Given the description of an element on the screen output the (x, y) to click on. 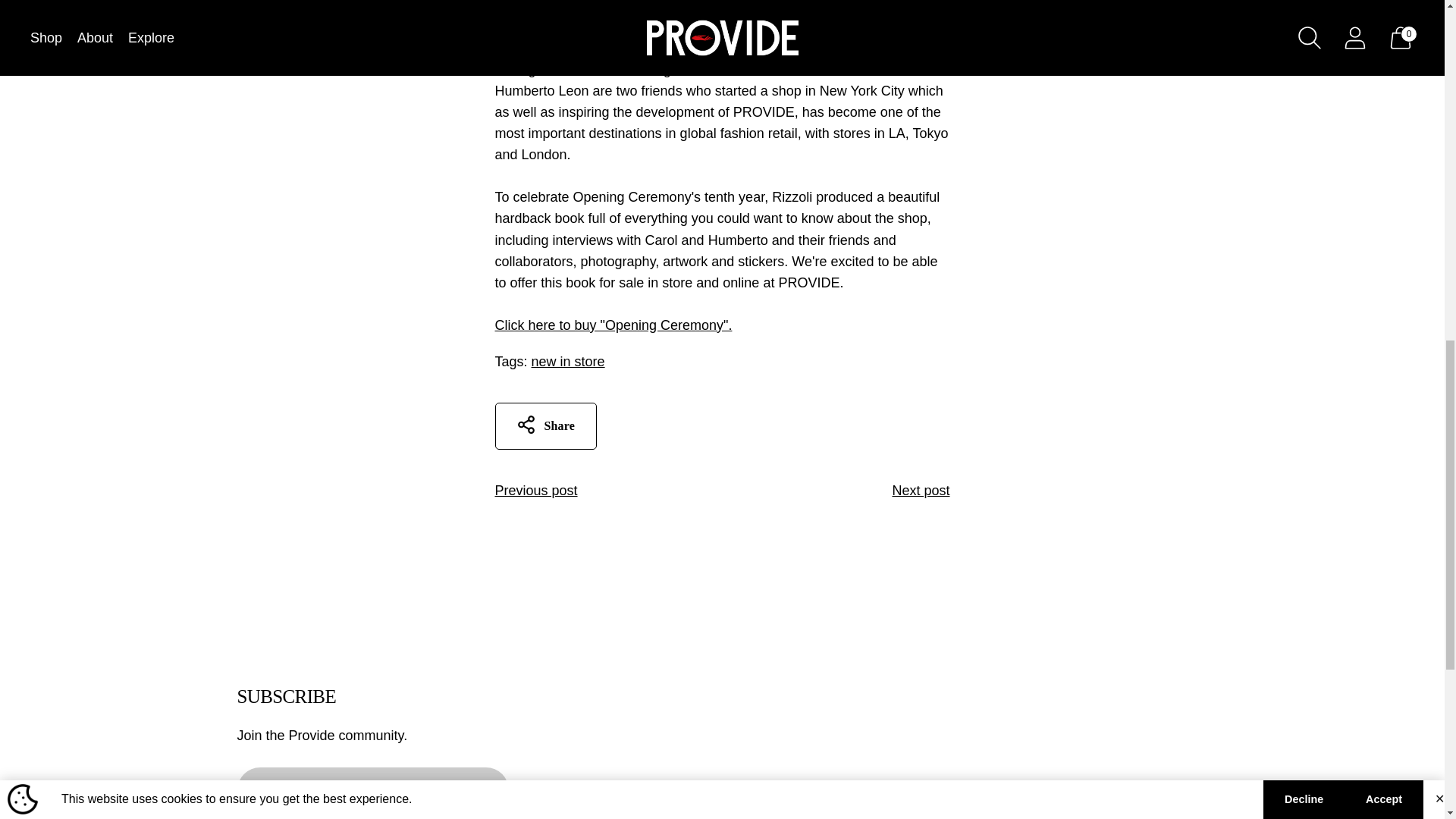
Show articles tagged new in store (568, 361)
